Given the description of an element on the screen output the (x, y) to click on. 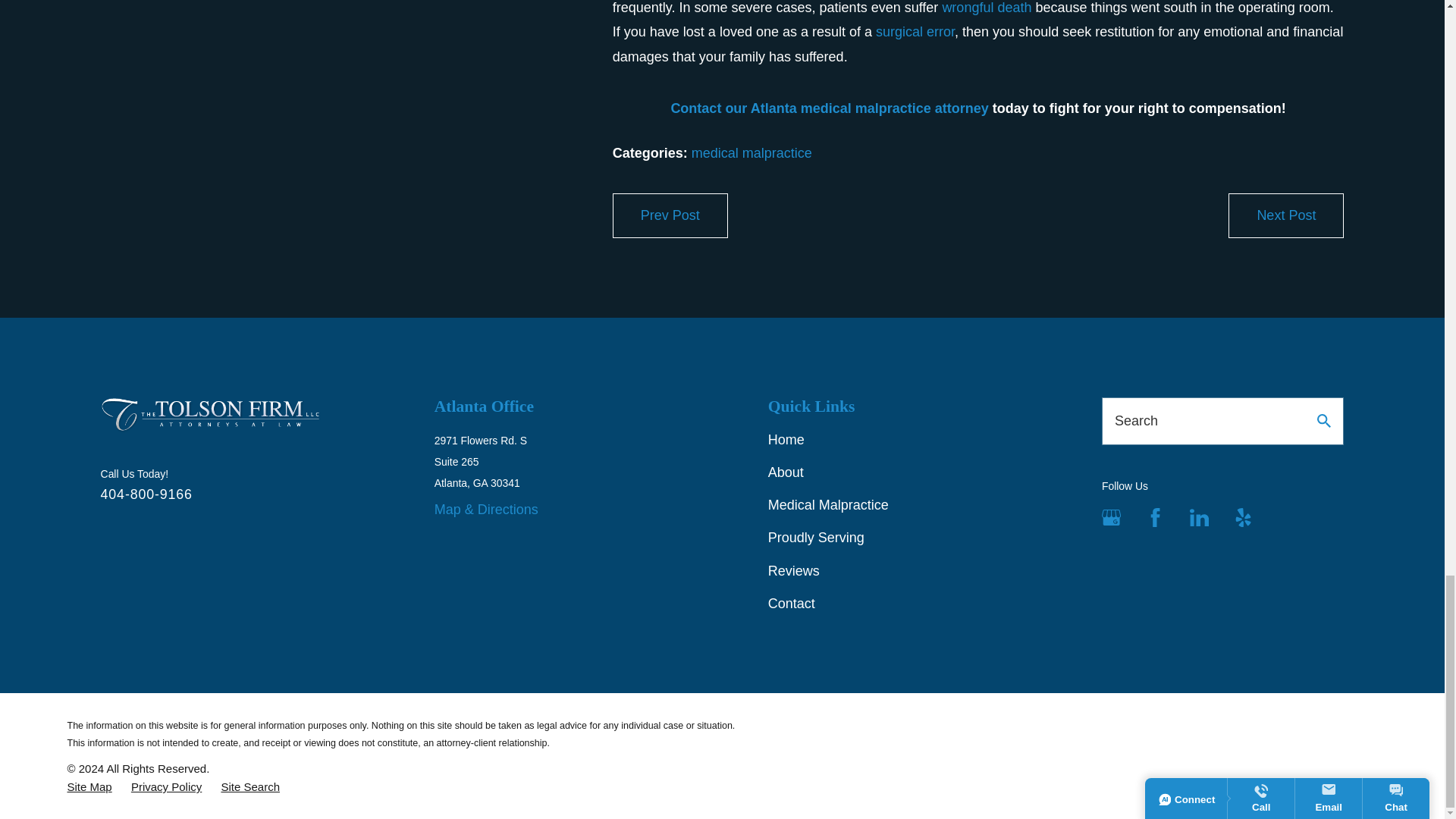
Facebook (1154, 517)
Google Business Profile (1111, 517)
Search Our Site (1323, 420)
Home (209, 415)
LinkedIn (1198, 517)
Yelp (1242, 517)
